Given the description of an element on the screen output the (x, y) to click on. 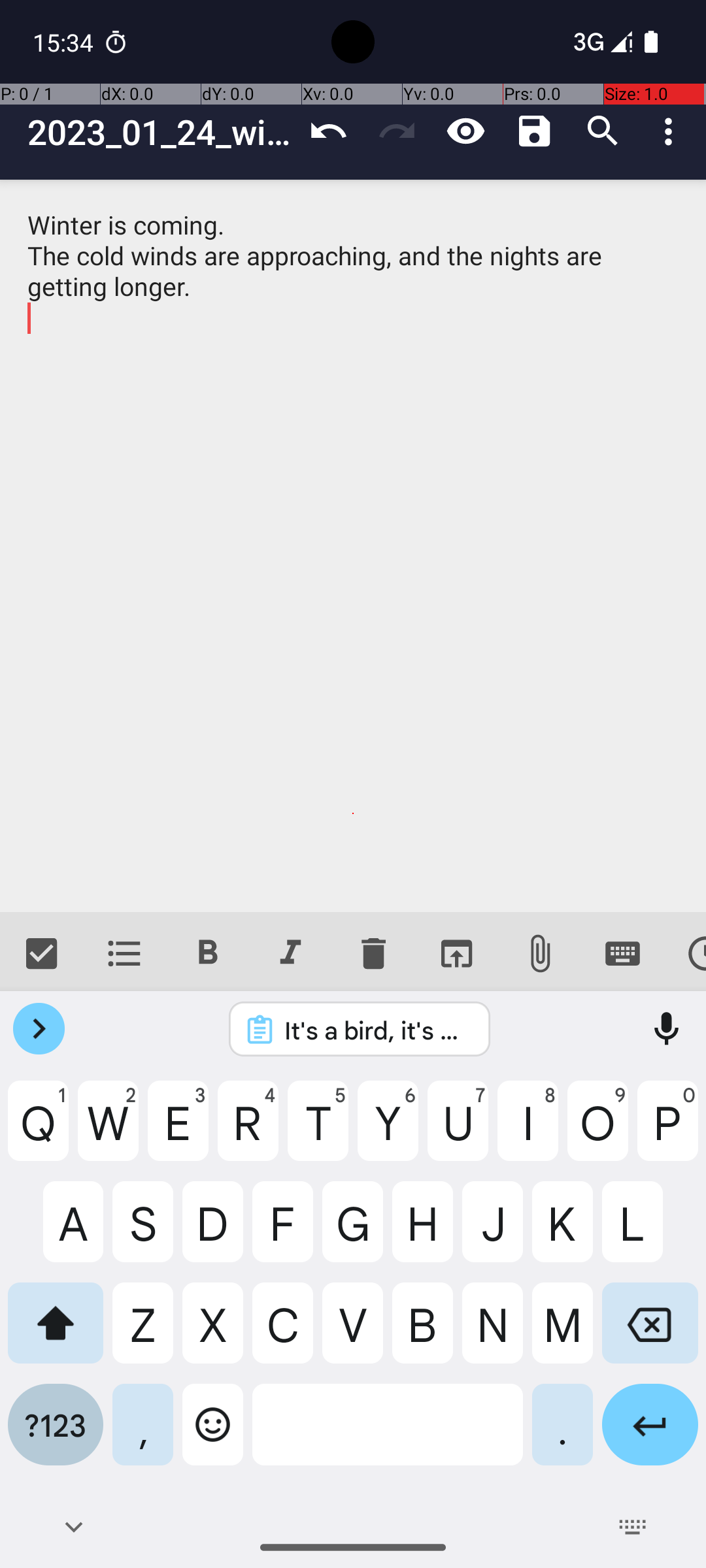
2023_01_24_wise_lamp Element type: android.widget.TextView (160, 131)
Winter is coming.
The cold winds are approaching, and the nights are getting longer.
 Element type: android.widget.EditText (353, 545)
